Given the description of an element on the screen output the (x, y) to click on. 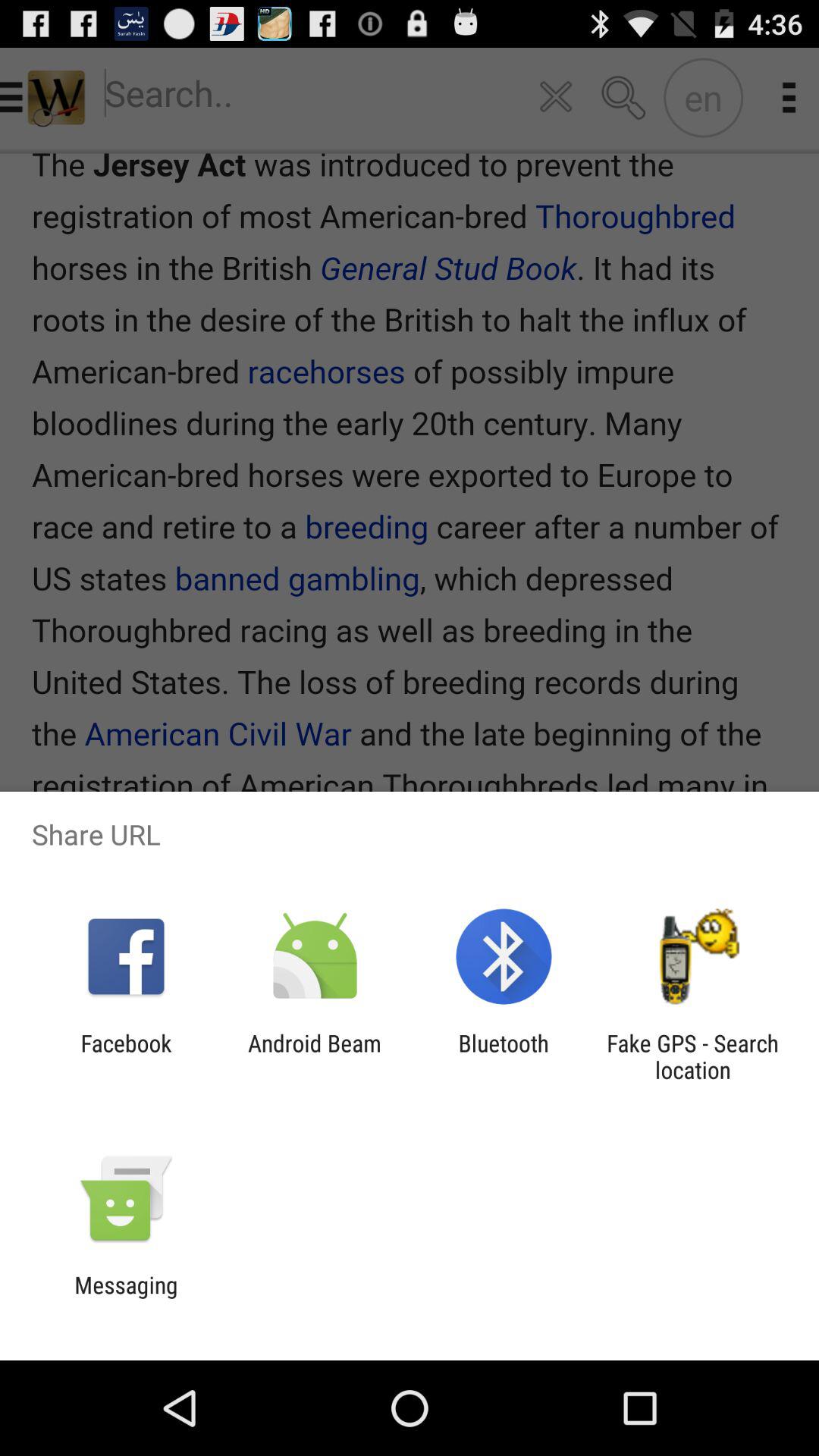
choose the facebook (125, 1056)
